Given the description of an element on the screen output the (x, y) to click on. 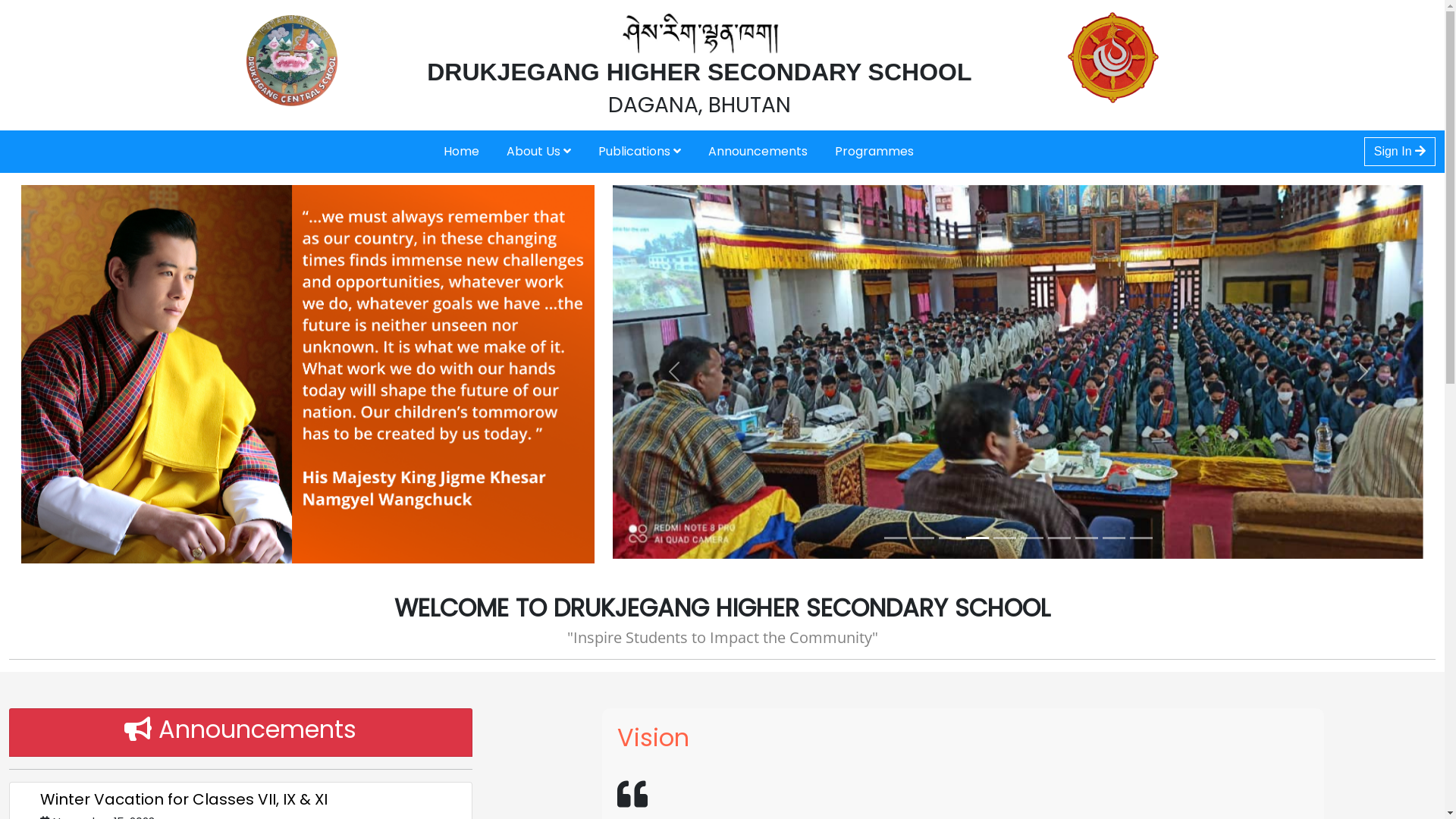
Publications Element type: text (639, 151)
About Us Element type: text (538, 151)
Winter Vacation for Classes VII, IX & XI Element type: text (183, 798)
Announcements Element type: text (757, 151)
Next Element type: text (1362, 372)
Previous Element type: text (673, 372)
Sign In Element type: text (1399, 151)
Programmes Element type: text (873, 151)
Home Element type: text (461, 151)
